Given the description of an element on the screen output the (x, y) to click on. 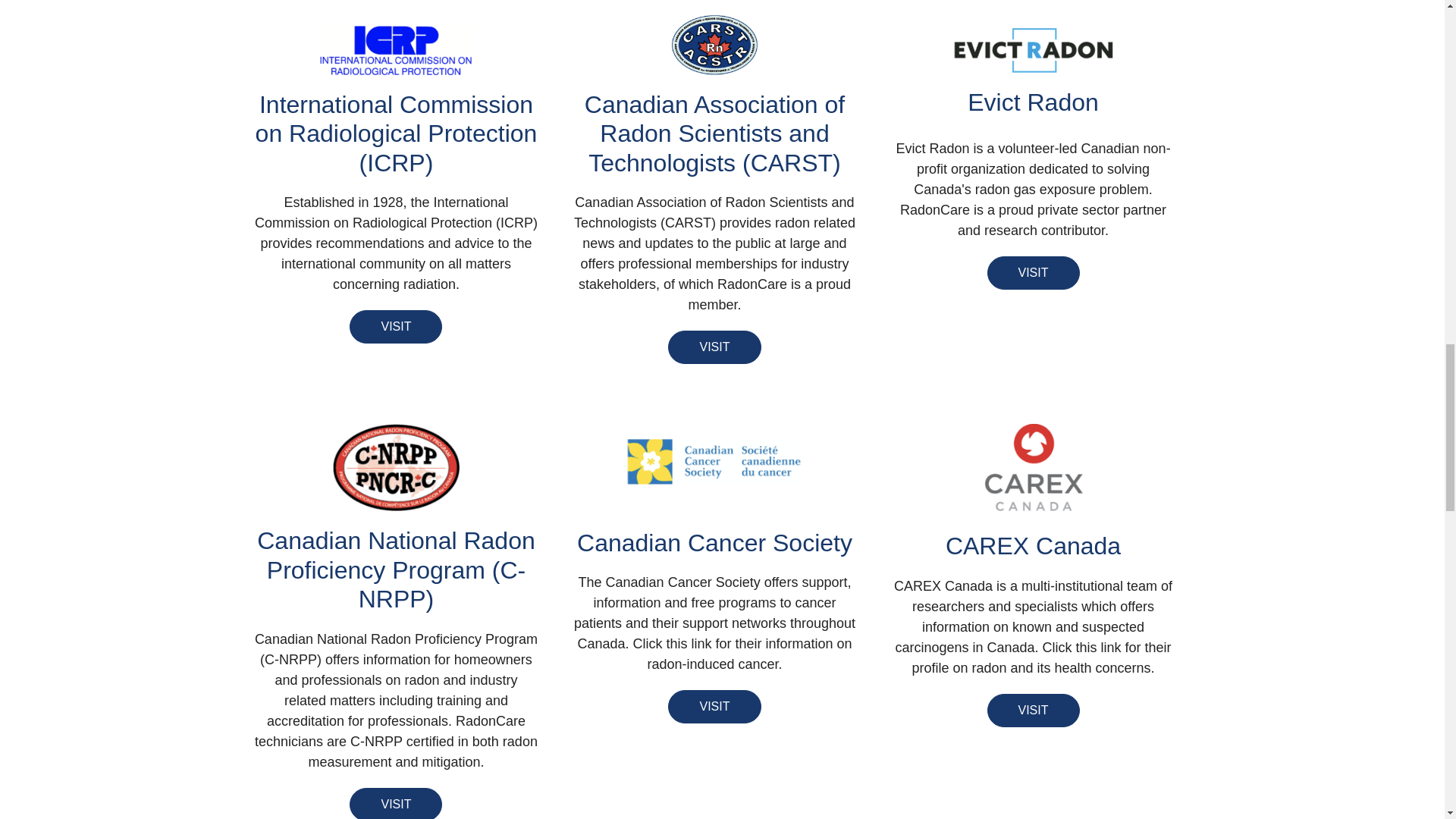
VISIT (1033, 272)
Evict Radon logo v2 (1033, 49)
VISIT (714, 346)
VISIT (395, 326)
